Given the description of an element on the screen output the (x, y) to click on. 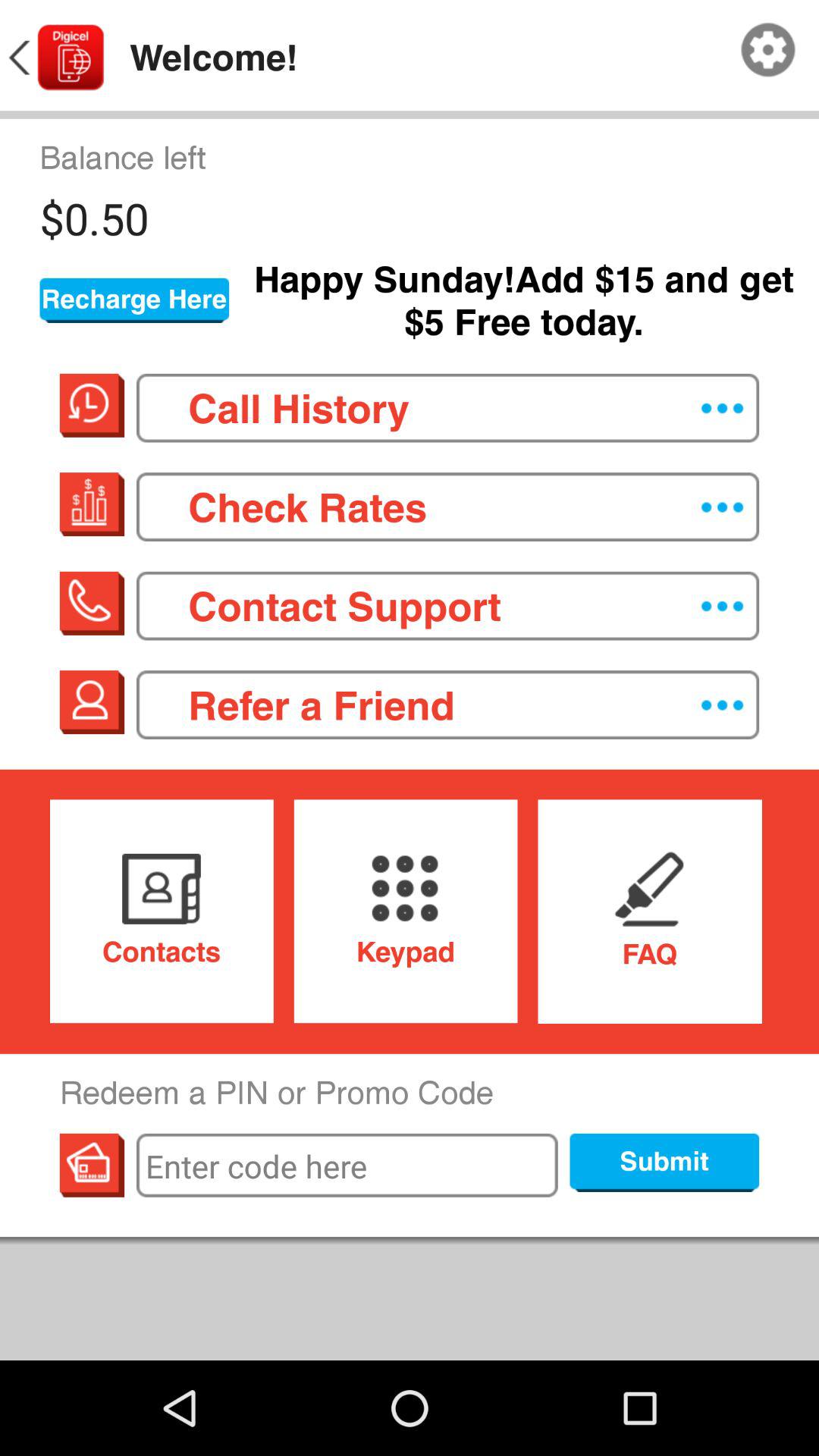
tap app to the right of the welcome! icon (768, 49)
